Given the description of an element on the screen output the (x, y) to click on. 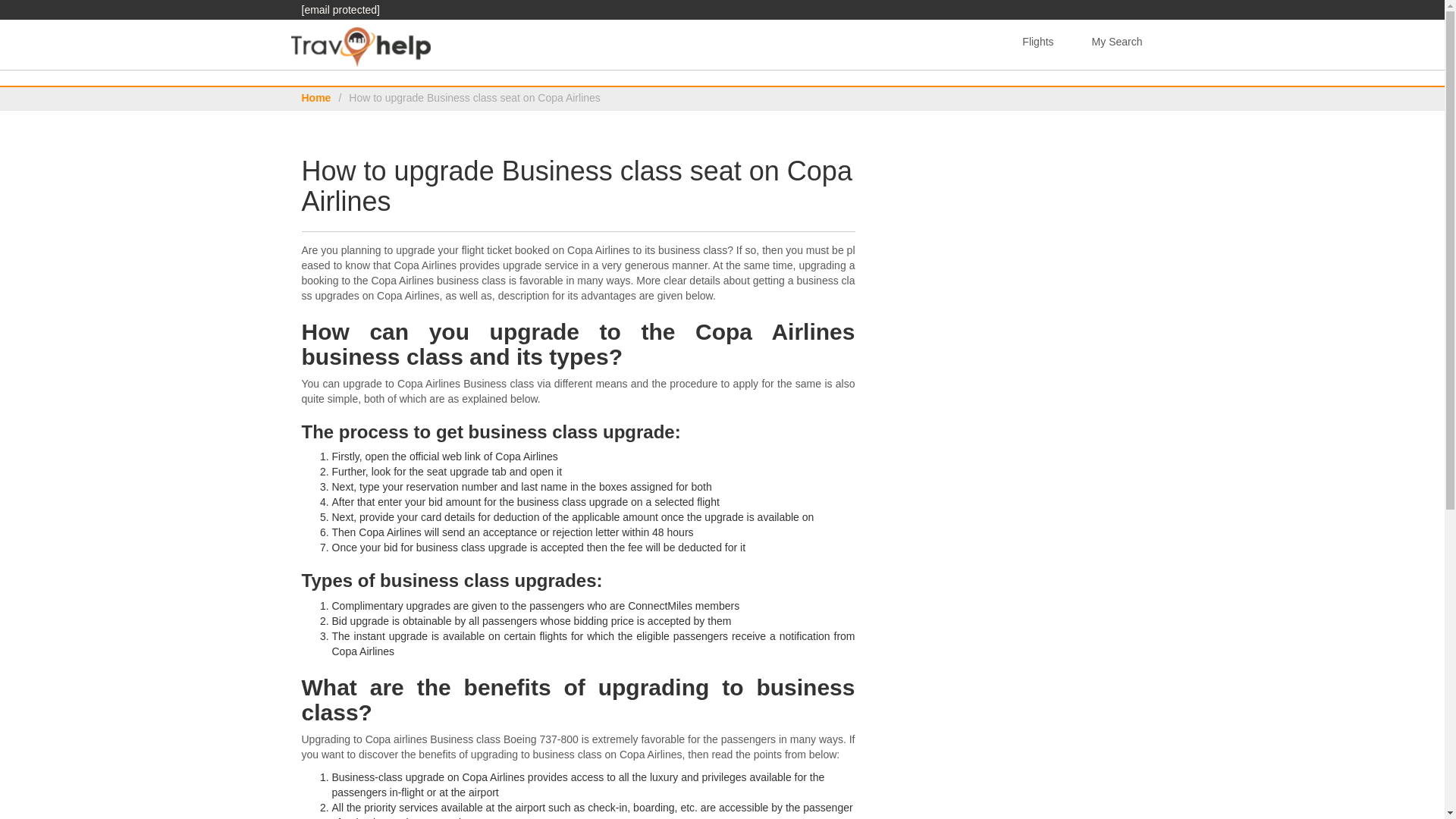
My Search (1117, 42)
Flights (1037, 42)
Home (316, 97)
